Given the description of an element on the screen output the (x, y) to click on. 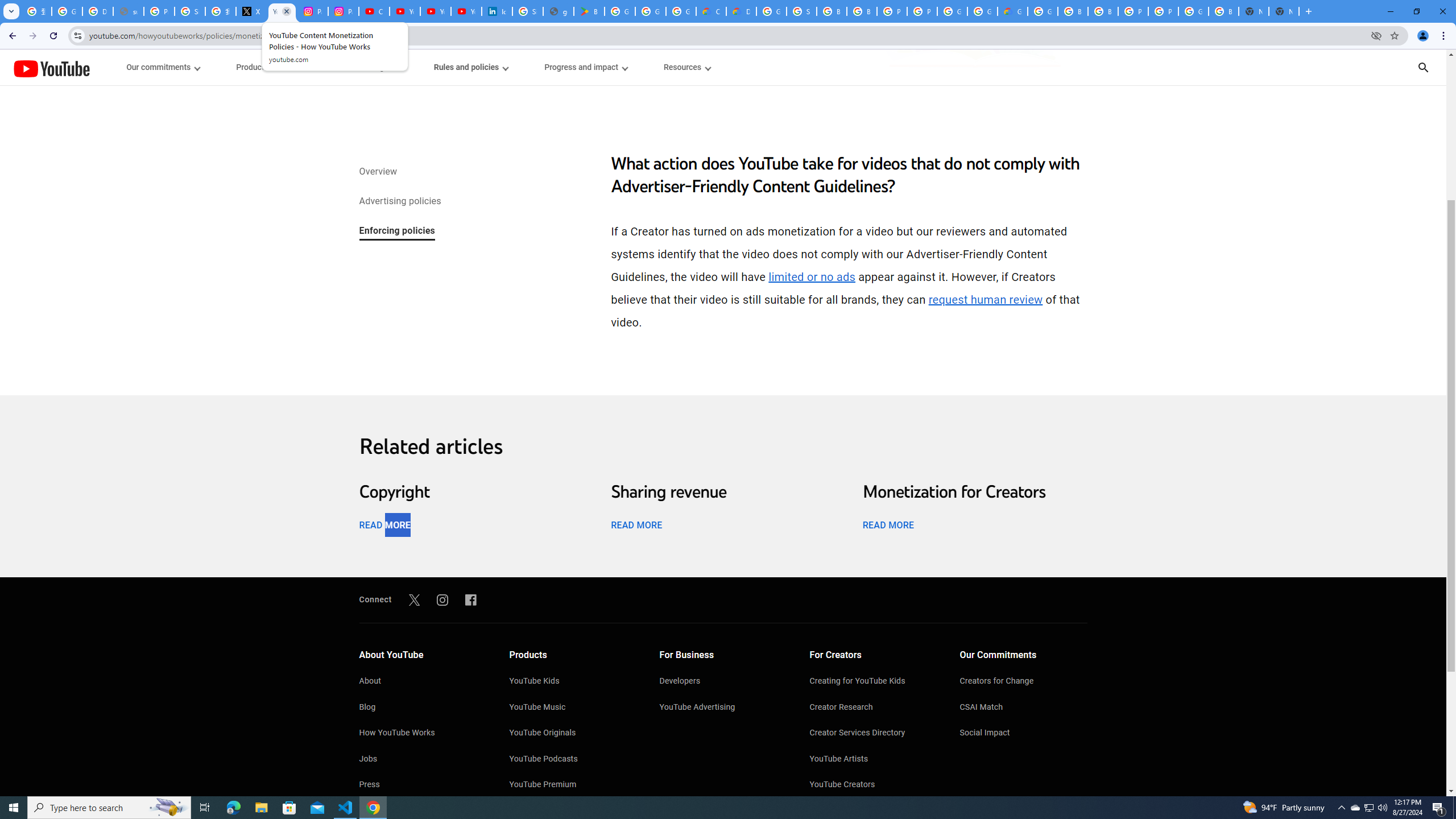
Our commitments menupopup (163, 67)
X (251, 11)
support.google.com - Network error (127, 11)
Google Workspace - Specific Terms (650, 11)
Creator Services Directory (873, 733)
YouTube Artists (873, 759)
